Given the description of an element on the screen output the (x, y) to click on. 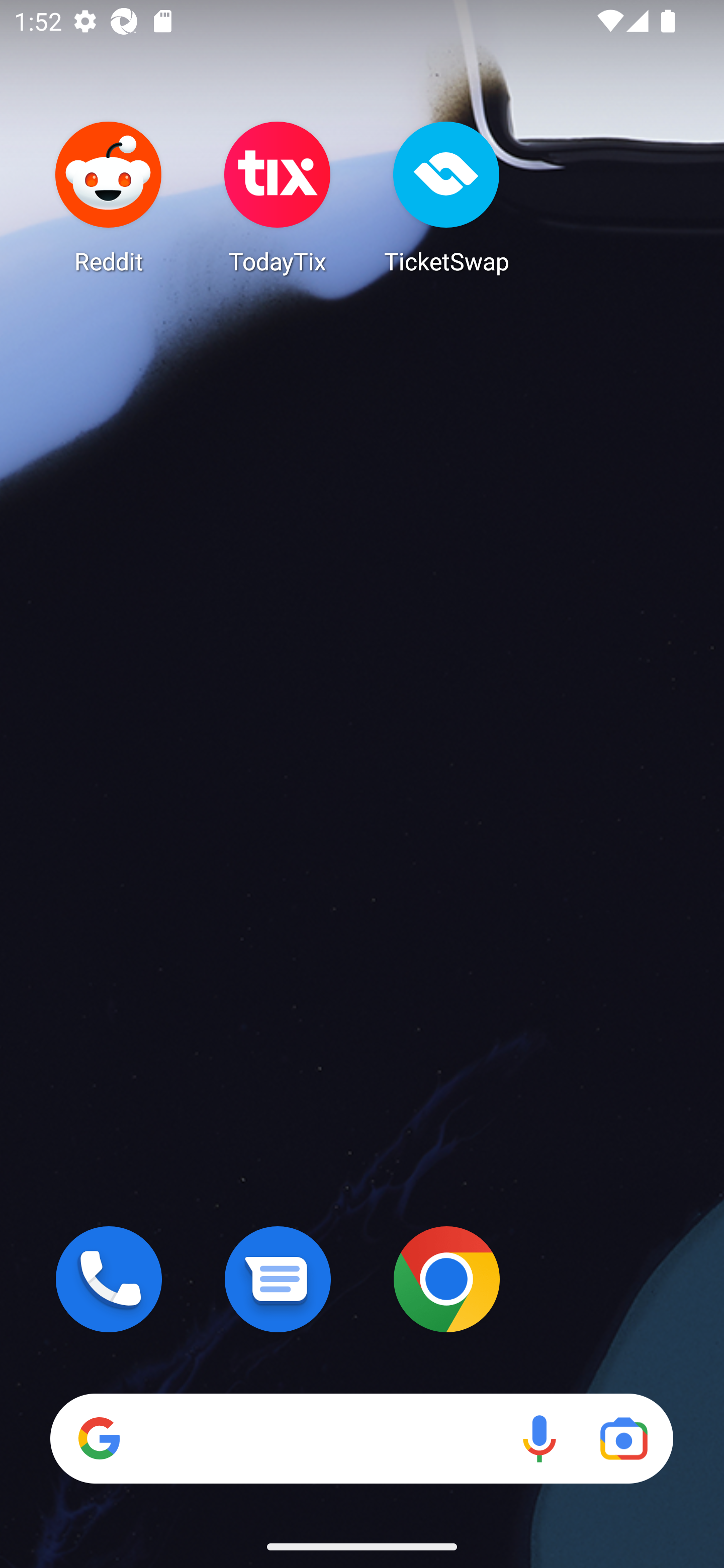
Reddit (108, 196)
TodayTix (277, 196)
TicketSwap (445, 196)
Phone (108, 1279)
Messages (277, 1279)
Chrome (446, 1279)
Voice search (539, 1438)
Google Lens (623, 1438)
